Given the description of an element on the screen output the (x, y) to click on. 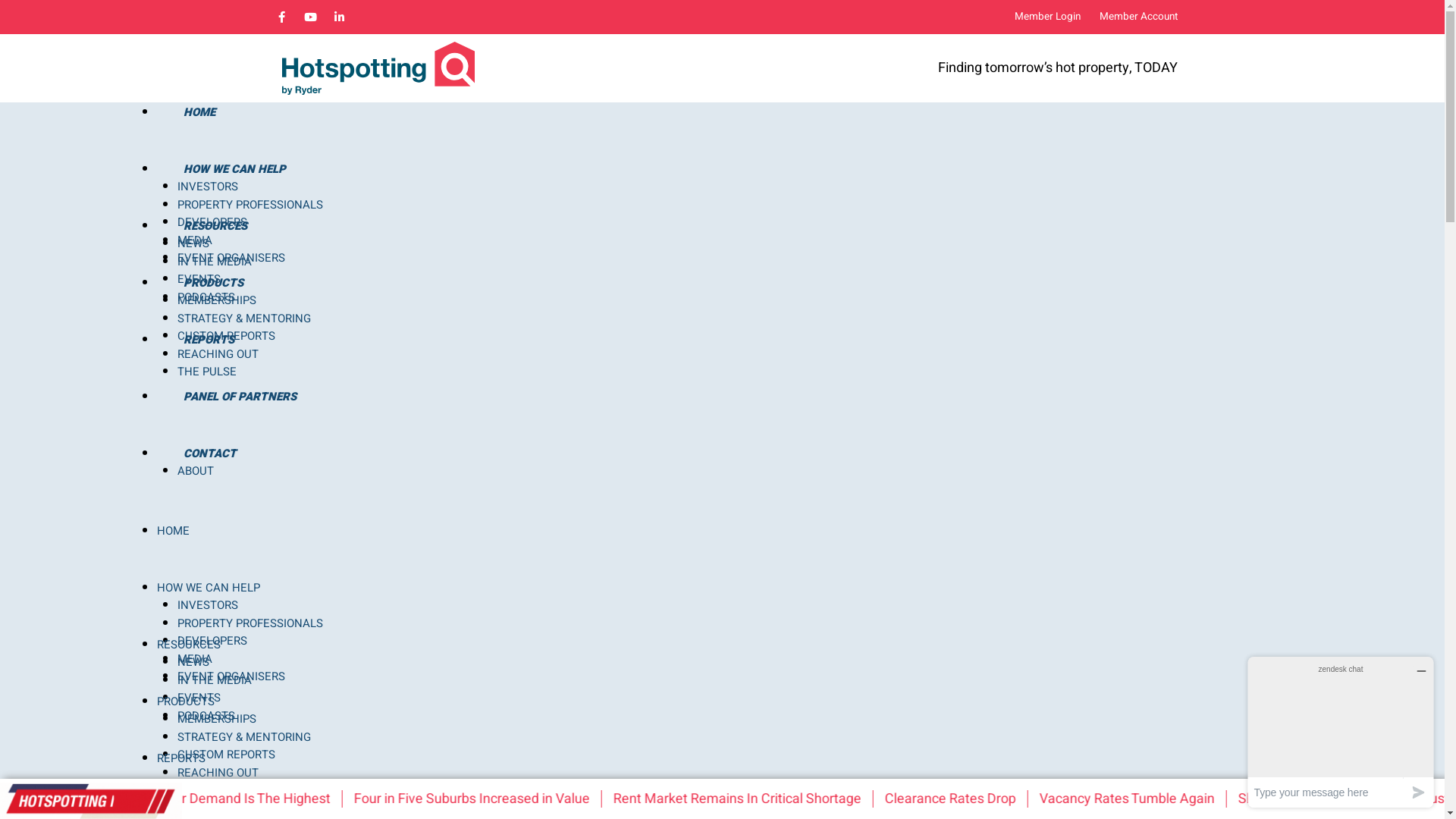
REACHING OUT Element type: text (217, 772)
Vacancy Rates Tumble Again Element type: text (1144, 798)
EVENTS Element type: text (198, 697)
HOME Element type: text (198, 111)
PODCASTS Element type: text (206, 715)
STRATEGY & MENTORING Element type: text (243, 736)
CONTACT Element type: text (209, 453)
STRATEGY & MENTORING Element type: text (243, 318)
PROPERTY PROFESSIONALS Element type: text (250, 204)
Opens a widget where you can chat to one of our agents Element type: hover (1340, 731)
ABOUT Element type: text (195, 470)
Member Account Element type: text (1138, 17)
IN THE MEDIA Element type: text (214, 679)
REACHING OUT Element type: text (217, 353)
THE PULSE Element type: text (206, 371)
IN THE MEDIA Element type: text (214, 261)
CUSTOM REPORTS Element type: text (226, 335)
DEVELOPERS Element type: text (212, 221)
Member Login Element type: text (1047, 17)
RESOURCES Element type: text (187, 644)
EVENT ORGANISERS Element type: text (231, 257)
Four in Five Suburbs Increased in Value Element type: text (490, 798)
REPORTS Element type: text (208, 339)
DEVELOPERS Element type: text (212, 640)
THE PULSE Element type: text (206, 789)
MEDIA Element type: text (194, 240)
PRODUCTS Element type: text (212, 282)
RESOURCES Element type: text (214, 225)
NEWS Element type: text (193, 243)
INVESTORS Element type: text (207, 186)
EVENT ORGANISERS Element type: text (231, 676)
PANEL OF PARTNERS Element type: text (239, 396)
MEDIA Element type: text (194, 658)
MEMBERSHIPS Element type: text (216, 299)
NEWS Element type: text (193, 661)
CUSTOM REPORTS Element type: text (226, 754)
HOME Element type: text (172, 530)
Share Houses On The Rise Element type: text (1335, 798)
MEMBERSHIPS Element type: text (216, 718)
Rent Market Remains In Critical Shortage Element type: text (755, 798)
INVESTORS Element type: text (207, 604)
Where Buyer Demand Is The Highest Element type: text (238, 798)
EVENTS Element type: text (198, 278)
REPORTS Element type: text (180, 757)
HOW WE CAN HELP Element type: text (233, 168)
PROPERTY PROFESSIONALS Element type: text (250, 623)
PRODUCTS Element type: text (184, 701)
PODCASTS Element type: text (206, 296)
Clearance Rates Drop Element type: text (967, 798)
HOW WE CAN HELP Element type: text (207, 587)
